Given the description of an element on the screen output the (x, y) to click on. 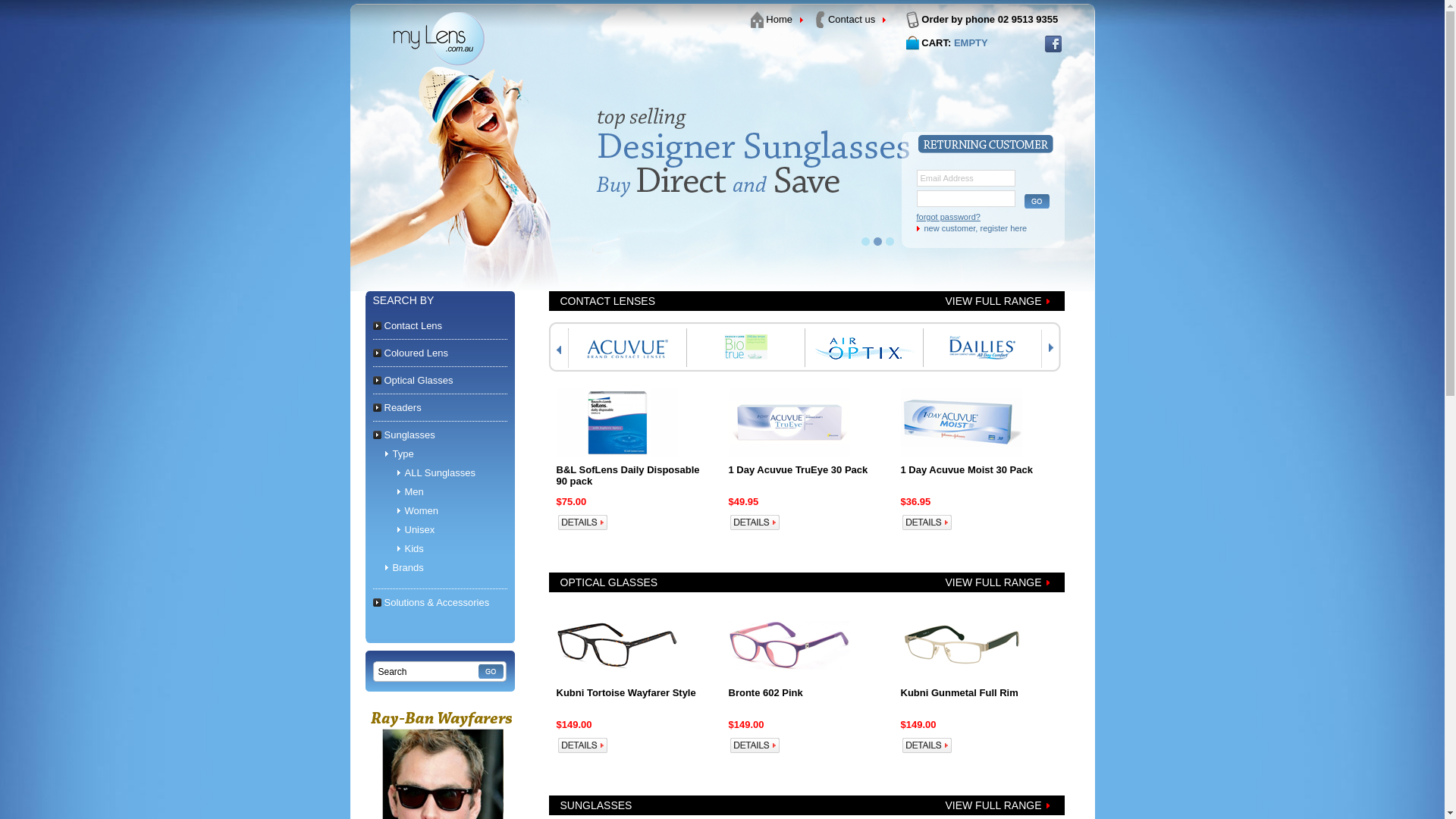
Brands Element type: text (407, 567)
Contact us Element type: text (851, 19)
Sunglasses Element type: text (404, 434)
Bronte 602 Pink Element type: text (765, 692)
B&L SofLens Daily Disposable 90 pack Element type: text (627, 475)
1 Day Acuvue TruEye 30 Pack Element type: text (797, 469)
3 Element type: text (889, 241)
Readers Element type: text (397, 407)
Contact Lens Element type: text (407, 325)
Optical Glasses Element type: text (413, 379)
Kubni Tortoise Wayfarer Style Element type: text (626, 692)
Home Element type: text (778, 19)
Women Element type: text (421, 510)
Unisex Element type: text (419, 529)
2 Element type: text (877, 241)
Kids Element type: text (413, 548)
Coloured Lens Element type: text (410, 352)
ALL Sunglasses Element type: text (439, 472)
1 Day Acuvue Moist 30 Pack Element type: text (966, 469)
Type Element type: text (403, 453)
Kubni Gunmetal Full Rim Element type: text (959, 692)
new customer, register here Element type: text (995, 227)
EMPTY Element type: text (970, 42)
1 Element type: text (865, 241)
Solutions & Accessories Element type: text (431, 602)
forgot password? Element type: text (991, 216)
Men Element type: text (413, 491)
